Given the description of an element on the screen output the (x, y) to click on. 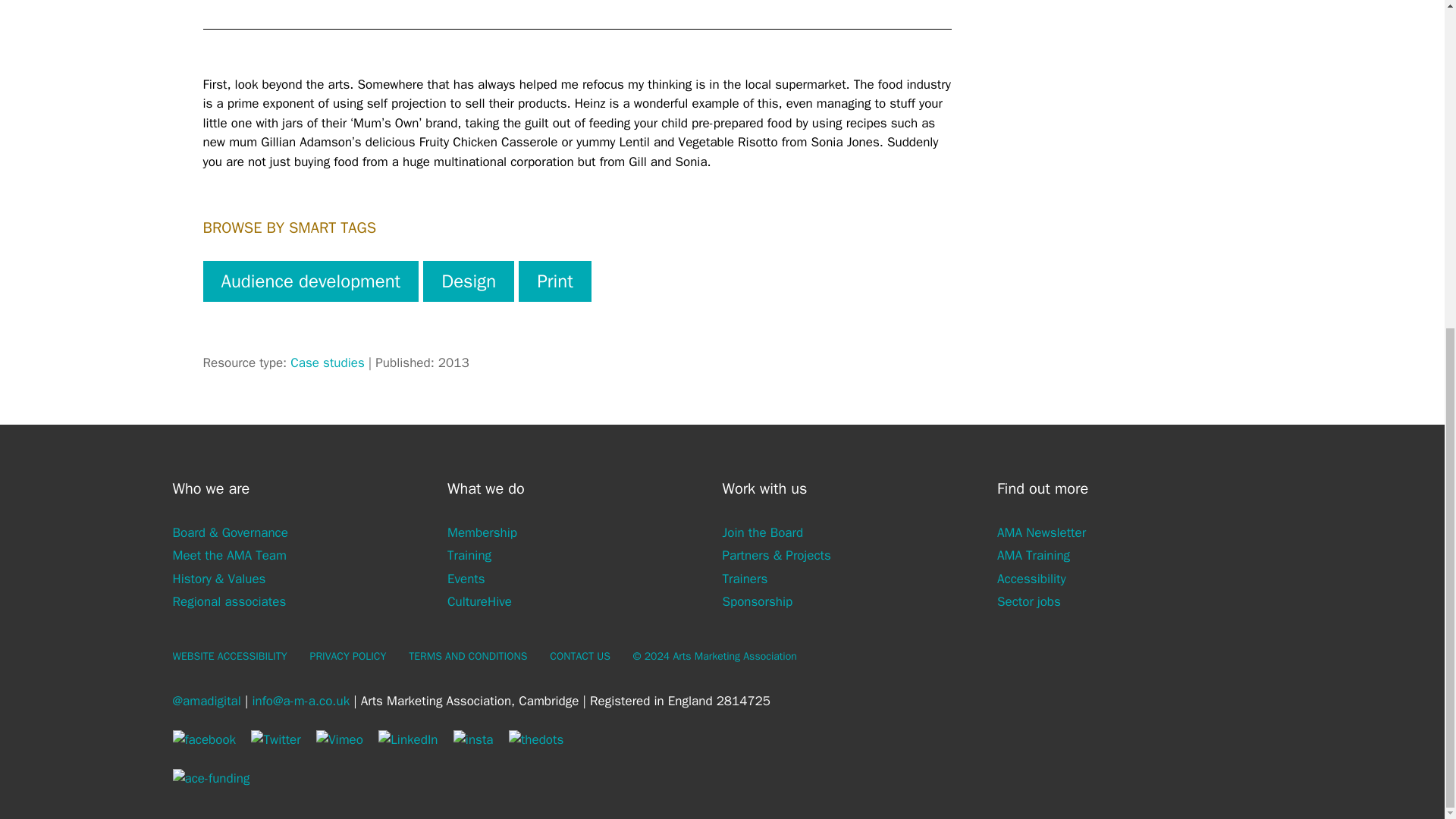
CONTACT US (580, 656)
Meet the AMA Team (229, 555)
Sponsorship (757, 601)
WEBSITE ACCESSIBILITY (229, 656)
Membership (481, 532)
Training (469, 555)
Audience development (311, 281)
Sector jobs (1029, 601)
Case studies (326, 362)
TERMS AND CONDITIONS (468, 656)
